Given the description of an element on the screen output the (x, y) to click on. 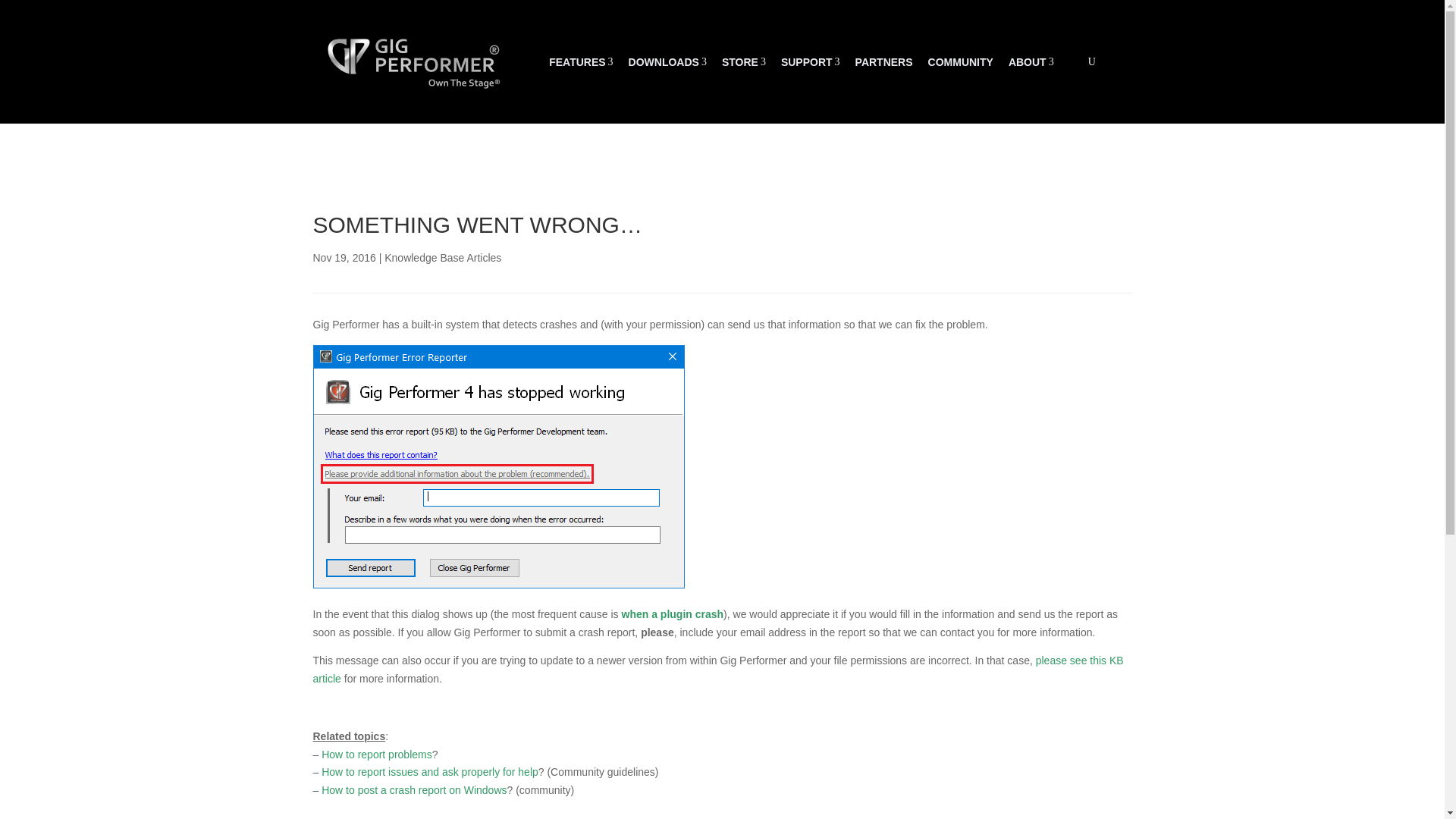
Enter your e-mail and describe the issue (667, 62)
PARTNERS (743, 62)
COMMUNITY (498, 466)
U (1031, 62)
